Given the description of an element on the screen output the (x, y) to click on. 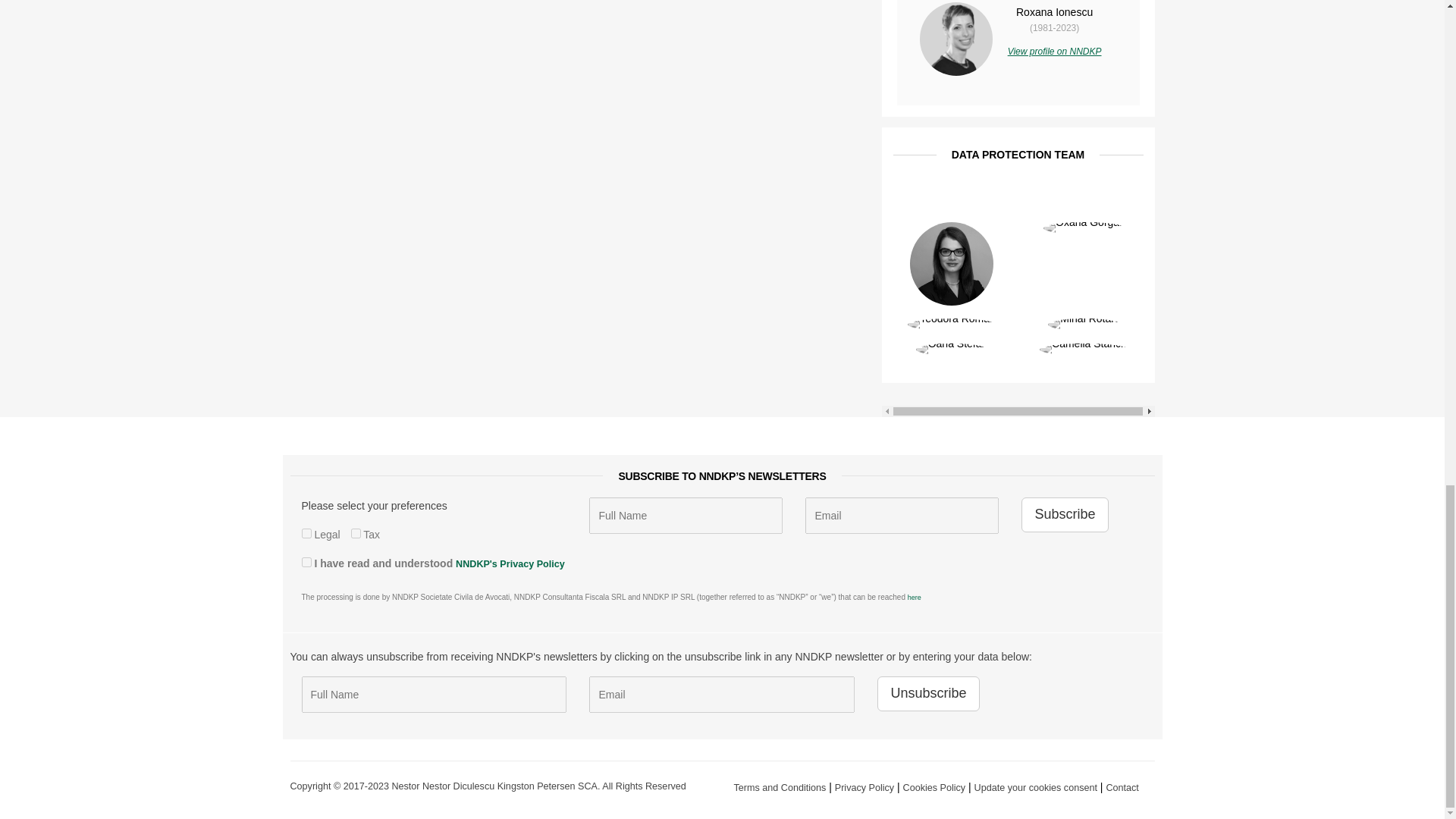
Unsubscribe (927, 693)
Subscribe (1065, 514)
Update your cookies consent (1035, 787)
Terms and Conditions (780, 787)
Privacy Policy (863, 787)
Subscribe (1065, 514)
Tax (355, 533)
here (914, 597)
Mihai Rotaru (1083, 324)
Camelia Stanciu (1083, 349)
